Given the description of an element on the screen output the (x, y) to click on. 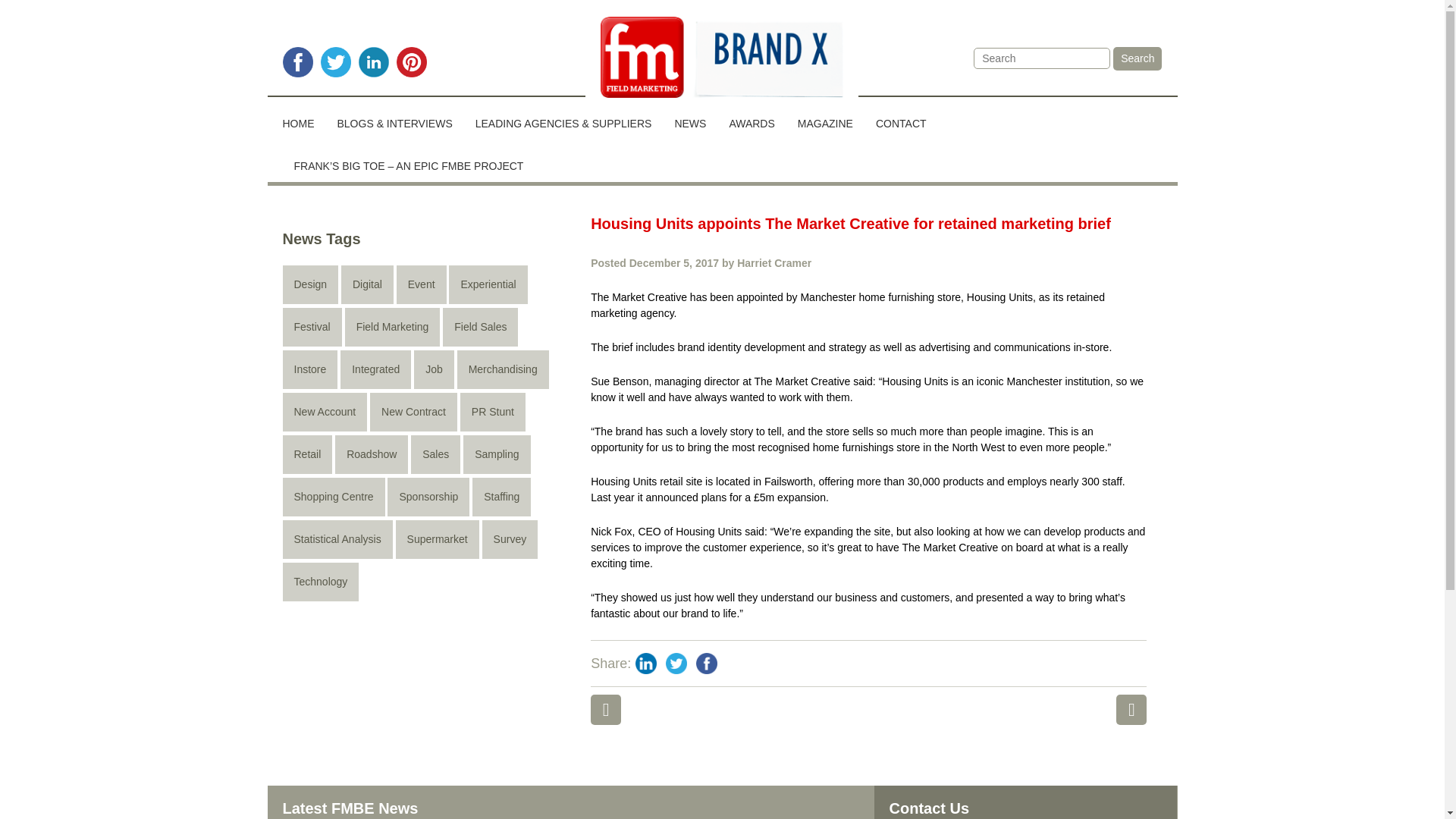
AWARDS (751, 118)
MAGAZINE (825, 118)
NEWS (689, 118)
Search (1137, 58)
LinkedIn (645, 663)
Twitter (676, 663)
HOME (303, 118)
Facebook (706, 663)
Fieldmarketing (722, 59)
